Given the description of an element on the screen output the (x, y) to click on. 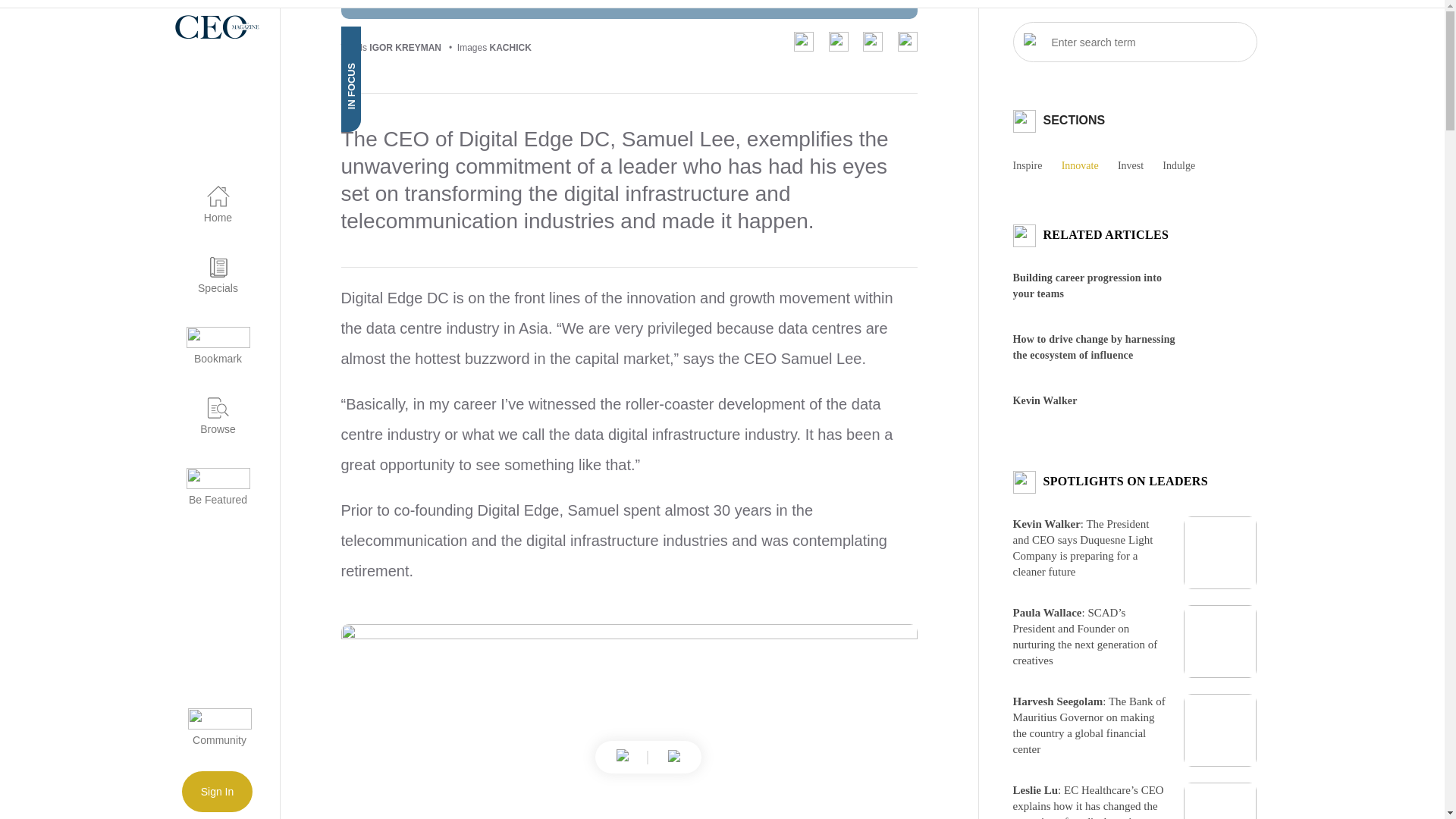
Kevin Walker (1045, 400)
Be Featured (209, 477)
Building career progression into your teams (1087, 285)
Sign In (217, 791)
Specials (209, 266)
Community (218, 730)
Inspire (1035, 165)
How to drive change by harnessing the ecosystem of influence (1093, 347)
Home (209, 195)
Innovate (1088, 165)
Bookmark (209, 336)
Indulge (1186, 165)
Invest (1138, 165)
Browse (209, 406)
